Given the description of an element on the screen output the (x, y) to click on. 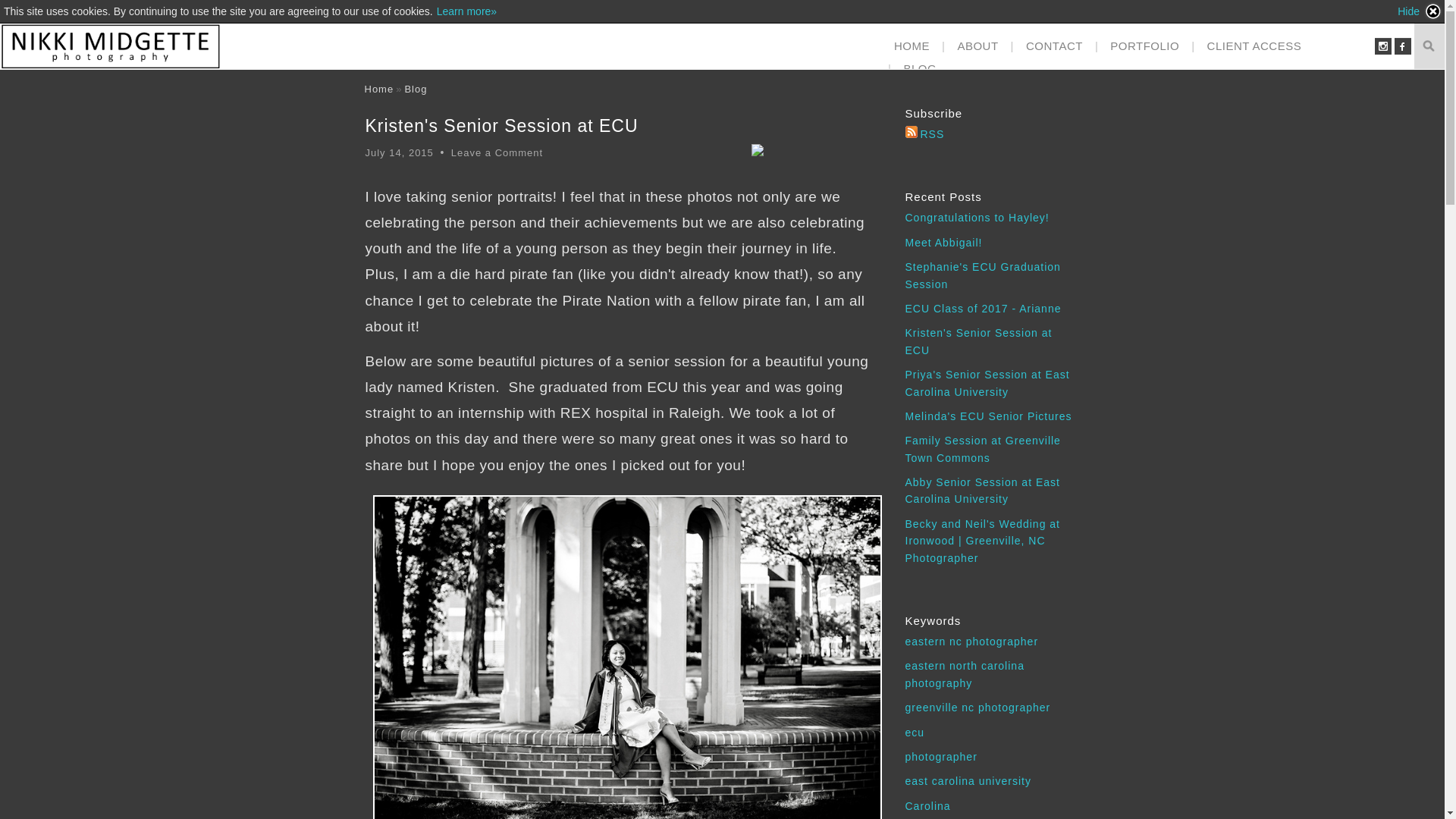
ABOUT (977, 46)
HOME (912, 46)
PORTFOLIO (1144, 46)
Nikki Midgette Photography (378, 89)
CONTACT (1054, 46)
Blog (415, 89)
Nikki Midgette Photography (110, 45)
Leave a Comment (497, 152)
Hide (1419, 11)
CLIENT ACCESS (1254, 46)
Home (378, 89)
BLOG (918, 68)
